Given the description of an element on the screen output the (x, y) to click on. 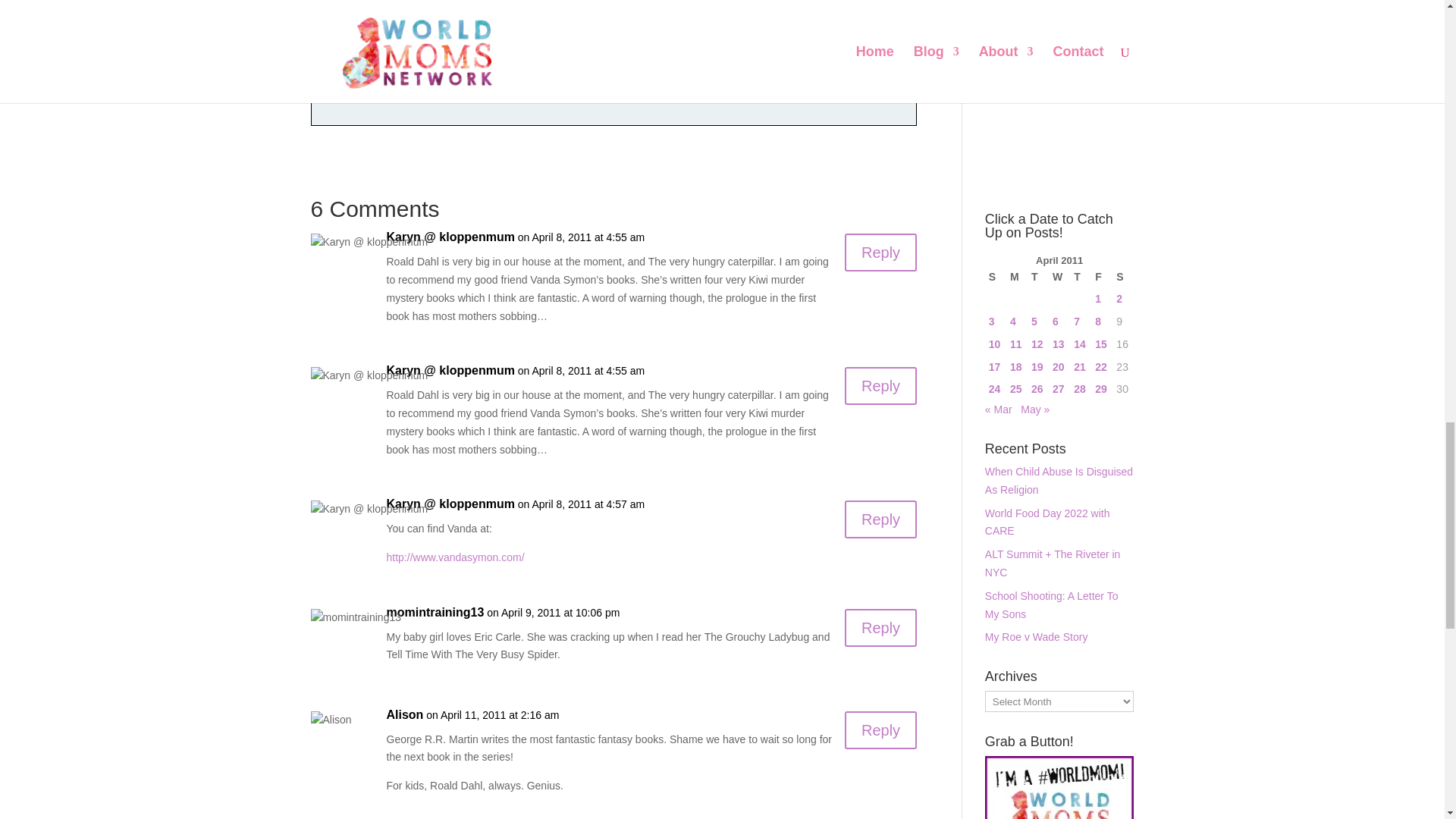
Wednesday (1059, 276)
Tuesday (1037, 276)
Monday (1016, 276)
Thursday (1080, 276)
Sunday (995, 276)
Friday (1101, 276)
More posts by World Moms Blog (459, 96)
Saturday (1123, 276)
